Given the description of an element on the screen output the (x, y) to click on. 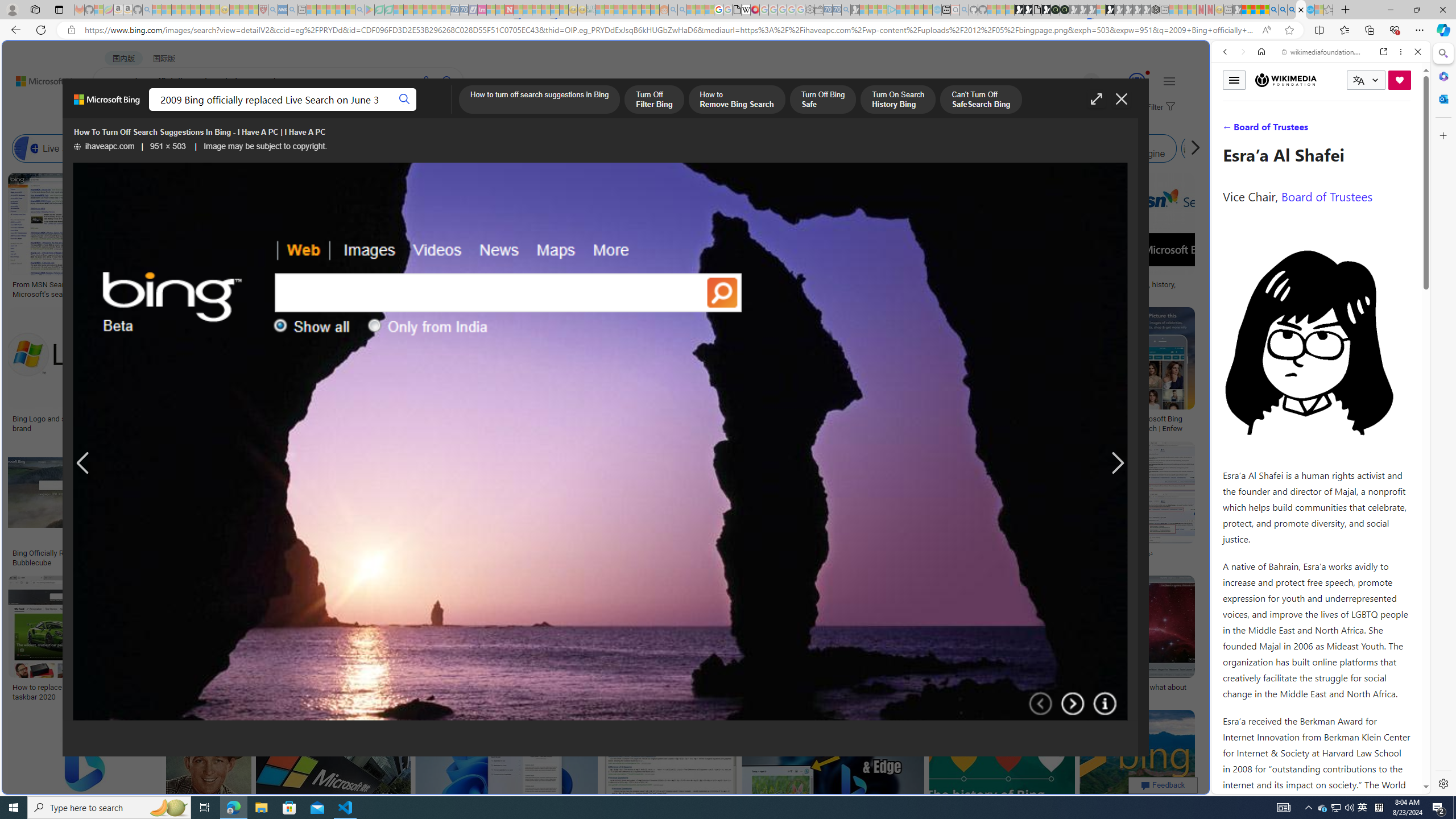
Dropdown Menu (451, 111)
Home | Sky Blue Bikes - Sky Blue Bikes - Sleeping (936, 9)
Bing Image Search Similar Images (964, 148)
Microsoft Rewards 84 (1125, 81)
Eugene (1074, 81)
WEB (114, 111)
The Weather Channel - MSN - Sleeping (175, 9)
IMAGES (205, 111)
Bing: rebranding search: idsgn (a design blog)Save (701, 237)
